Given the description of an element on the screen output the (x, y) to click on. 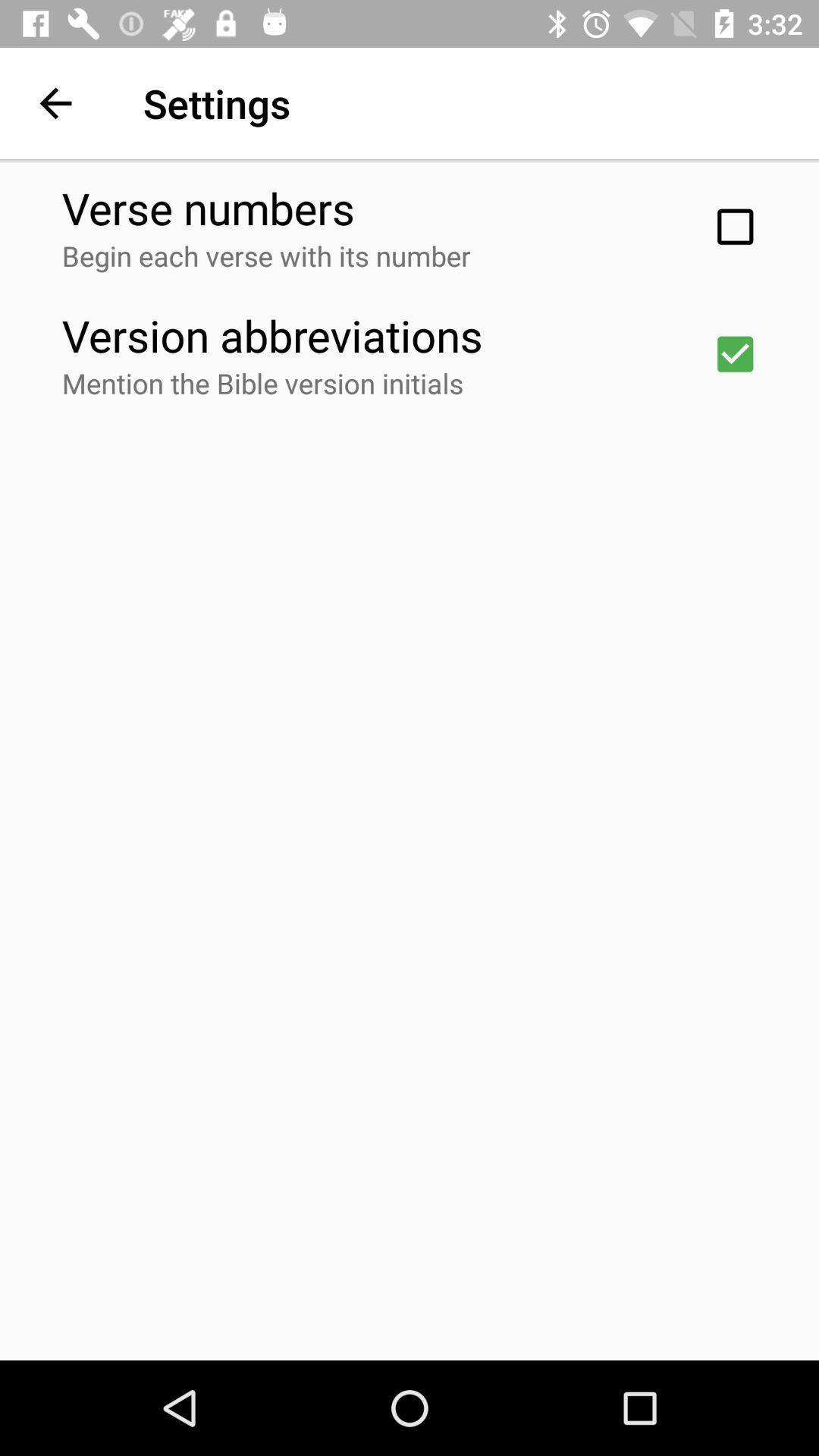
click the icon to the left of the settings app (55, 103)
